Given the description of an element on the screen output the (x, y) to click on. 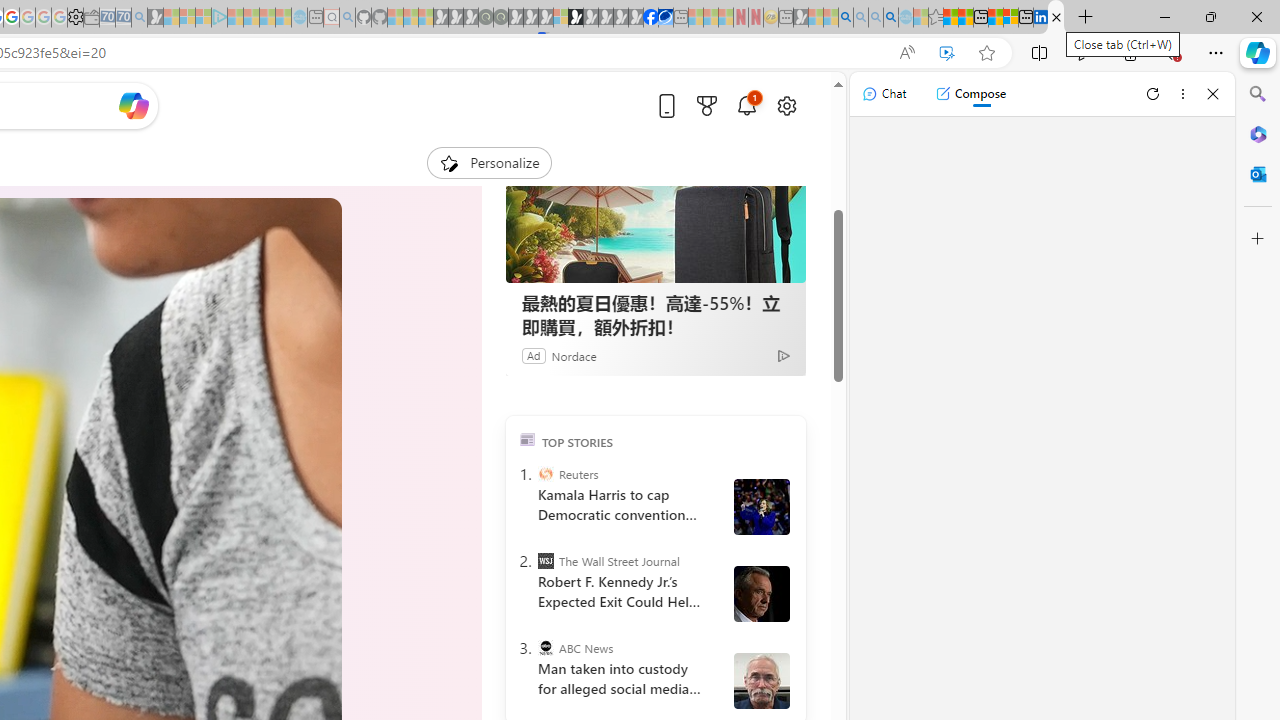
Future Focus Report 2024 - Sleeping (501, 17)
